Given the description of an element on the screen output the (x, y) to click on. 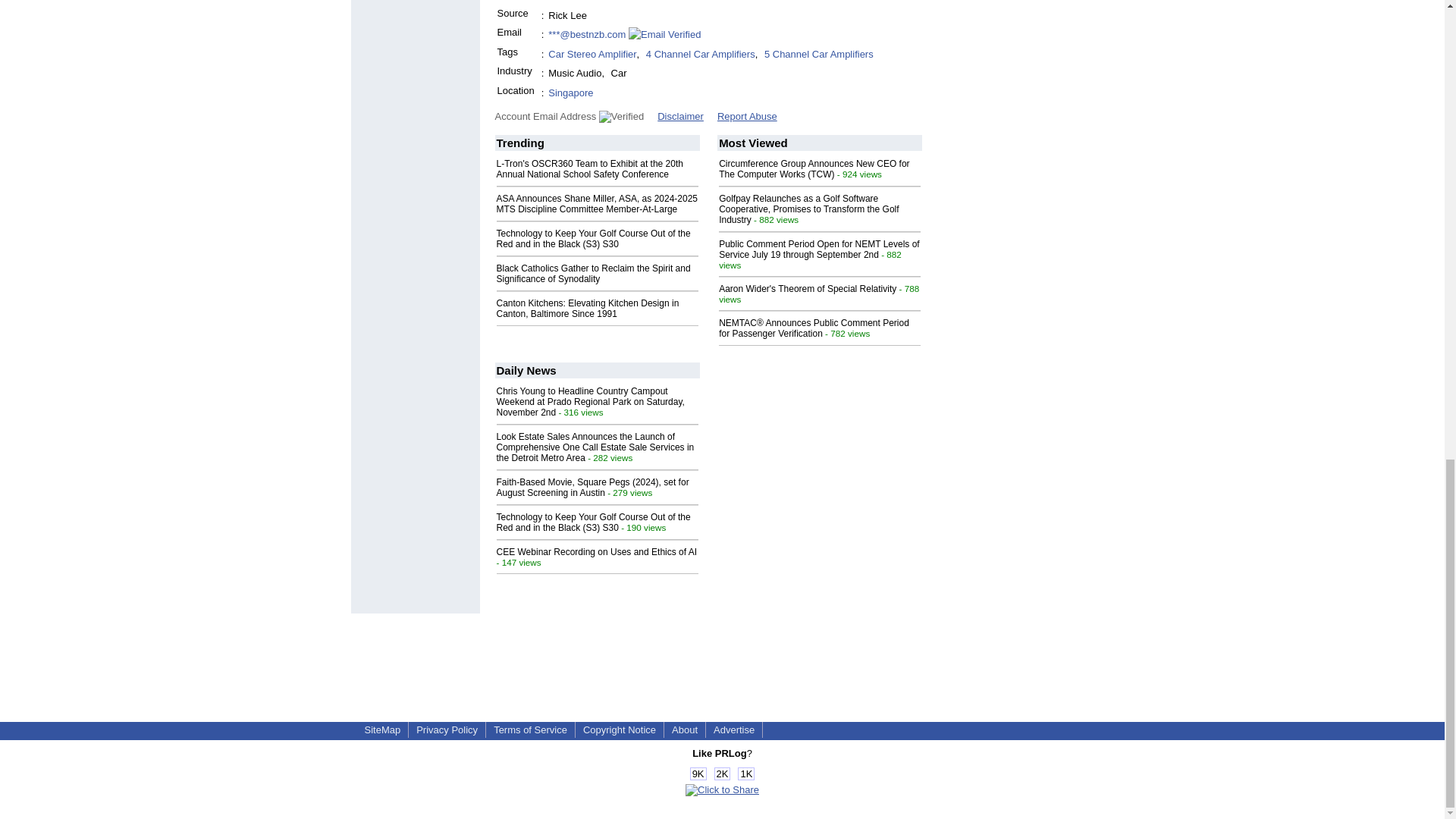
Share this page! (721, 789)
Verified (620, 116)
Email Verified (664, 34)
